Given the description of an element on the screen output the (x, y) to click on. 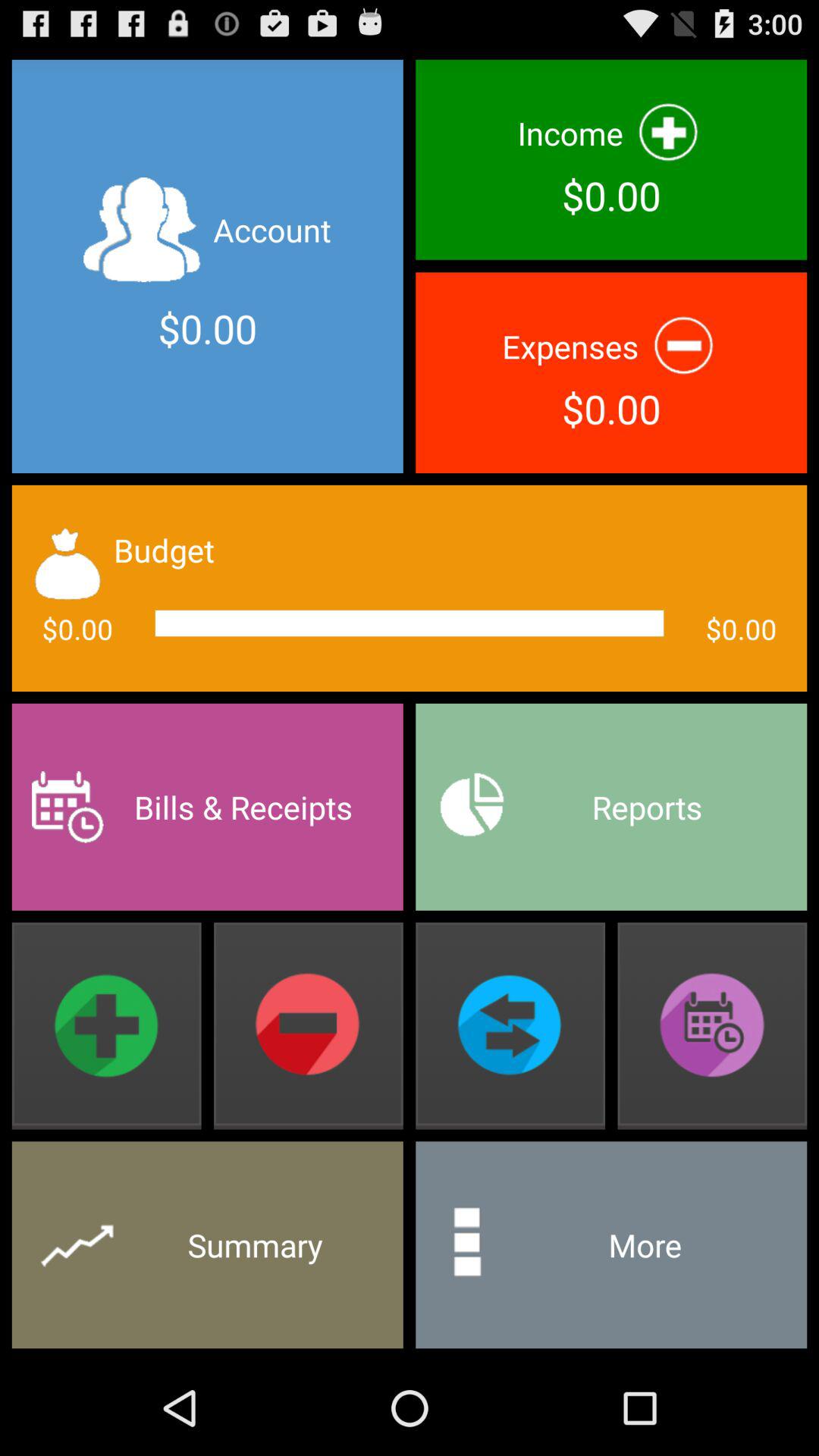
flip to bills & receipts (207, 806)
